Given the description of an element on the screen output the (x, y) to click on. 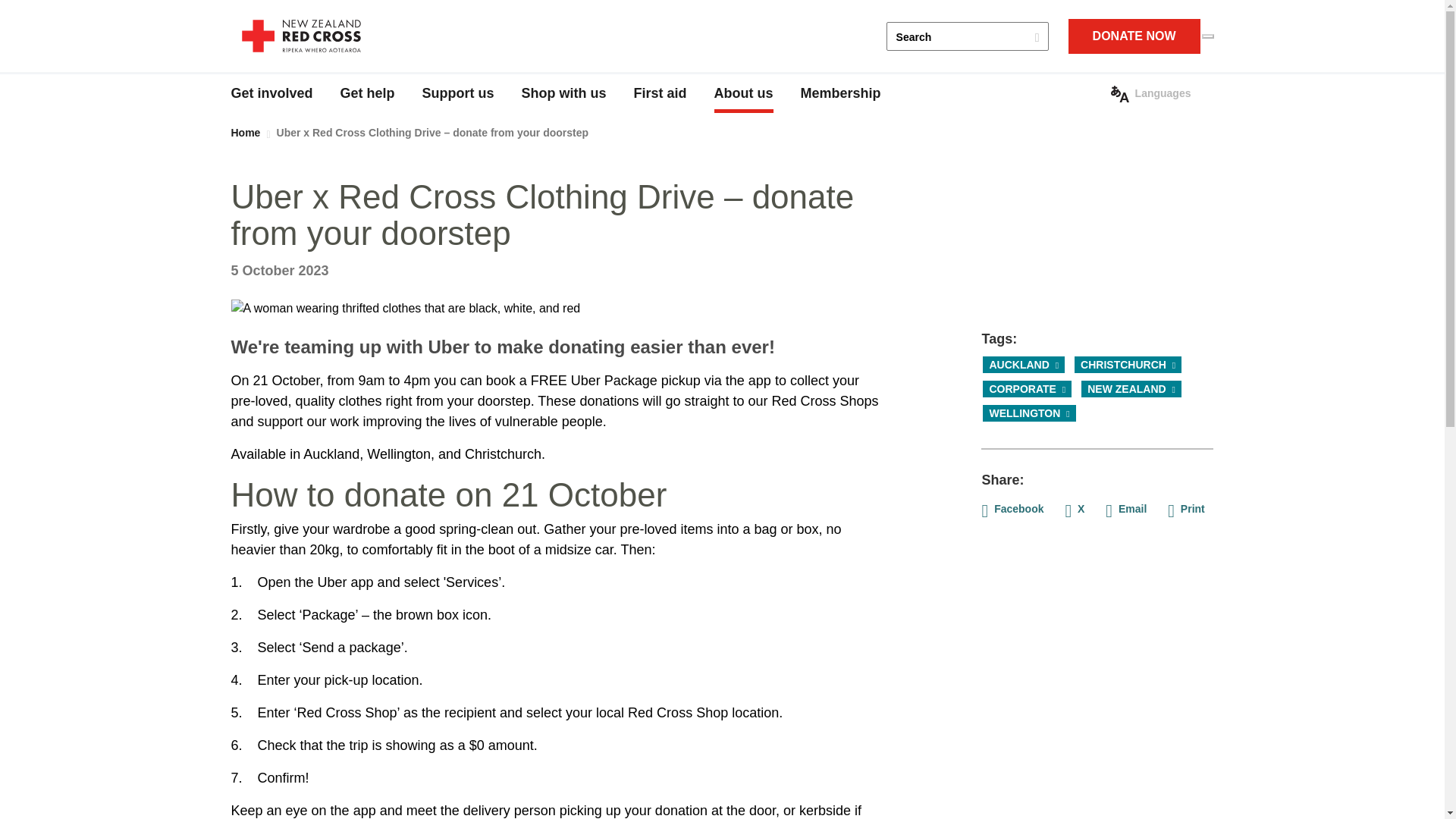
Get involved (271, 93)
Menu (1206, 36)
DONATE NOW (1134, 36)
Corporate (1027, 388)
Get help (367, 93)
New Zealand (1131, 388)
Christchurch (1127, 364)
Auckland (1023, 364)
Wellington (1029, 413)
Home (300, 36)
